Given the description of an element on the screen output the (x, y) to click on. 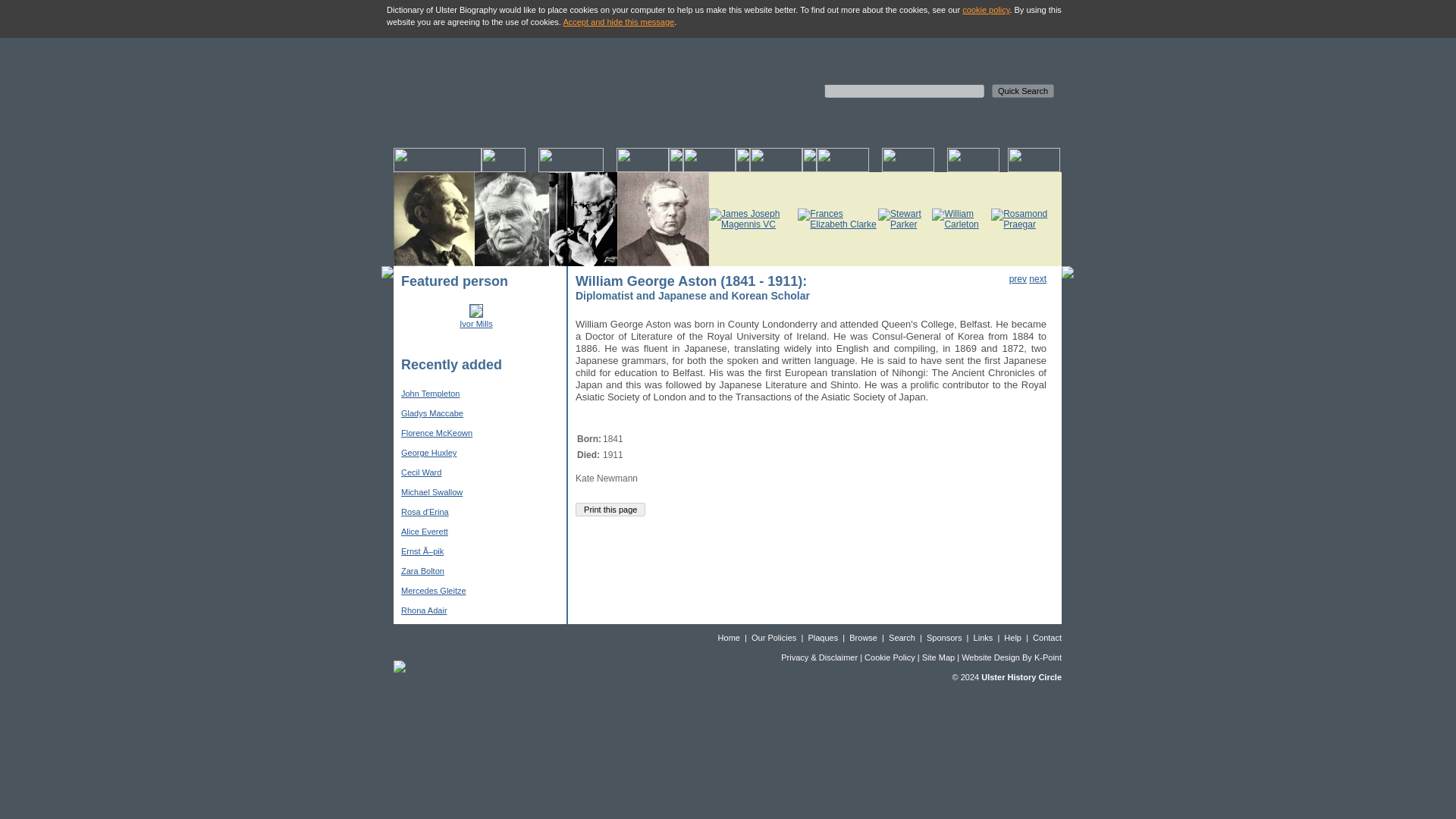
George Huxley (429, 452)
Ivor Mills (476, 323)
Our Policies (773, 637)
Rosa d'Erina (424, 511)
Frances Elizabeth Clarke (837, 219)
Accept and hide this message (618, 21)
James Joseph Magennis VC (753, 219)
Michael Swallow (432, 491)
Alice Everett (424, 531)
Quick Search (1022, 90)
